Given the description of an element on the screen output the (x, y) to click on. 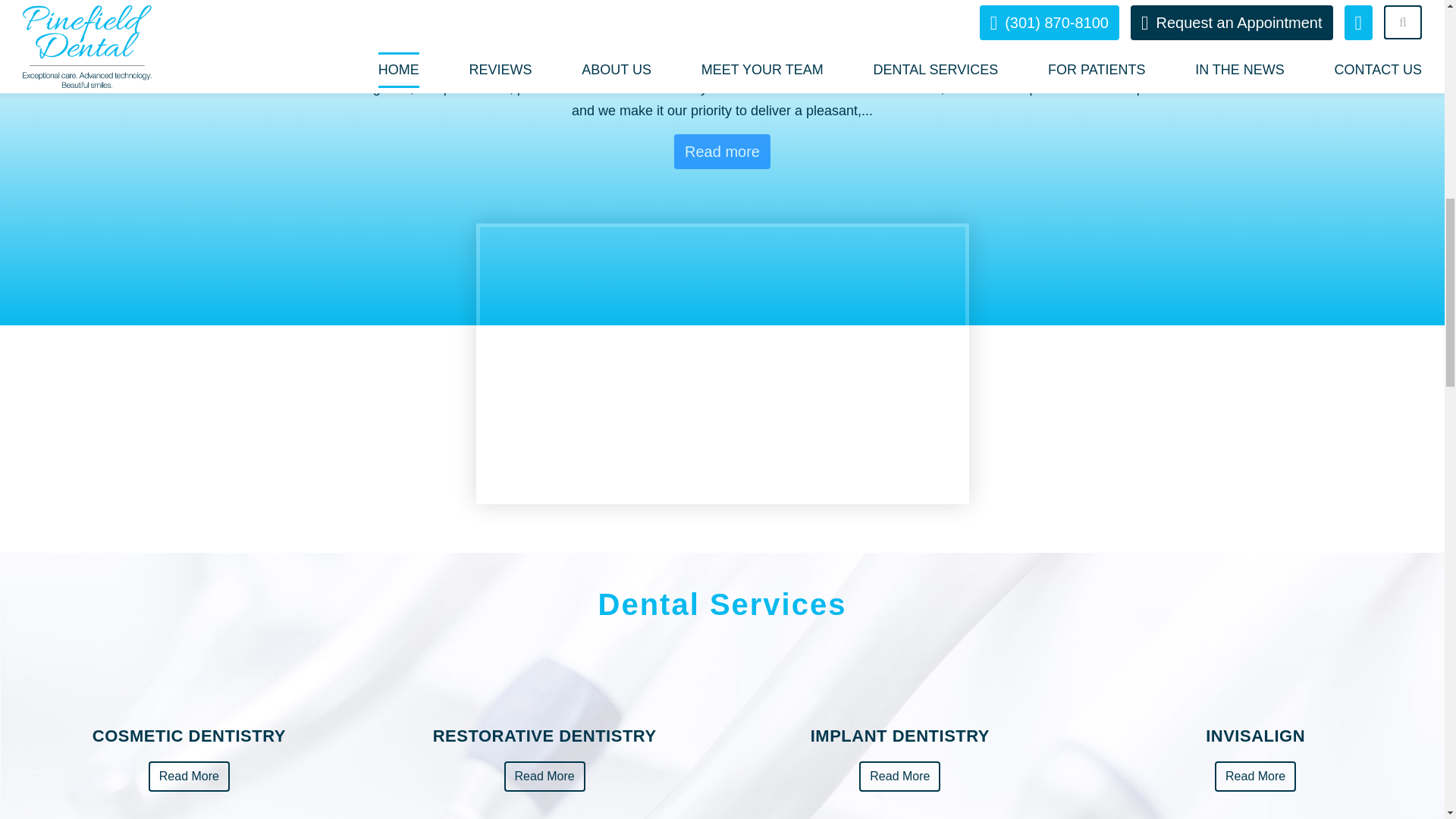
Read more (722, 151)
Read More (189, 776)
Read More (544, 776)
Read More (1254, 776)
Read More (899, 776)
